Given the description of an element on the screen output the (x, y) to click on. 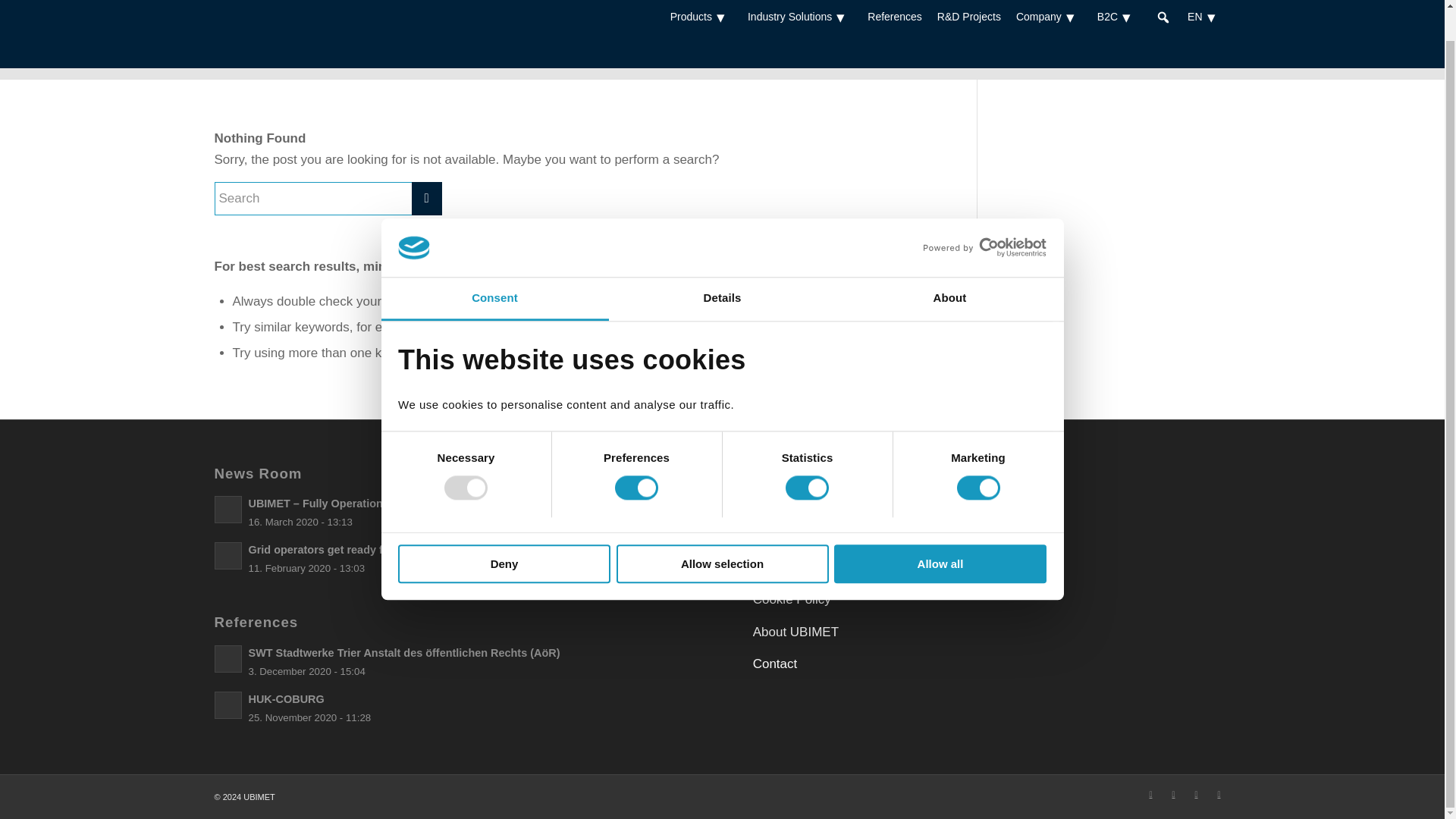
Grid operators get ready for climate change (452, 558)
About (948, 267)
EN (1204, 1)
Allow selection (721, 531)
HUK-COBURG (452, 707)
Deny (503, 531)
Consent (494, 267)
Details (721, 267)
UBIMET (1139, 57)
Allow all (940, 531)
